Given the description of an element on the screen output the (x, y) to click on. 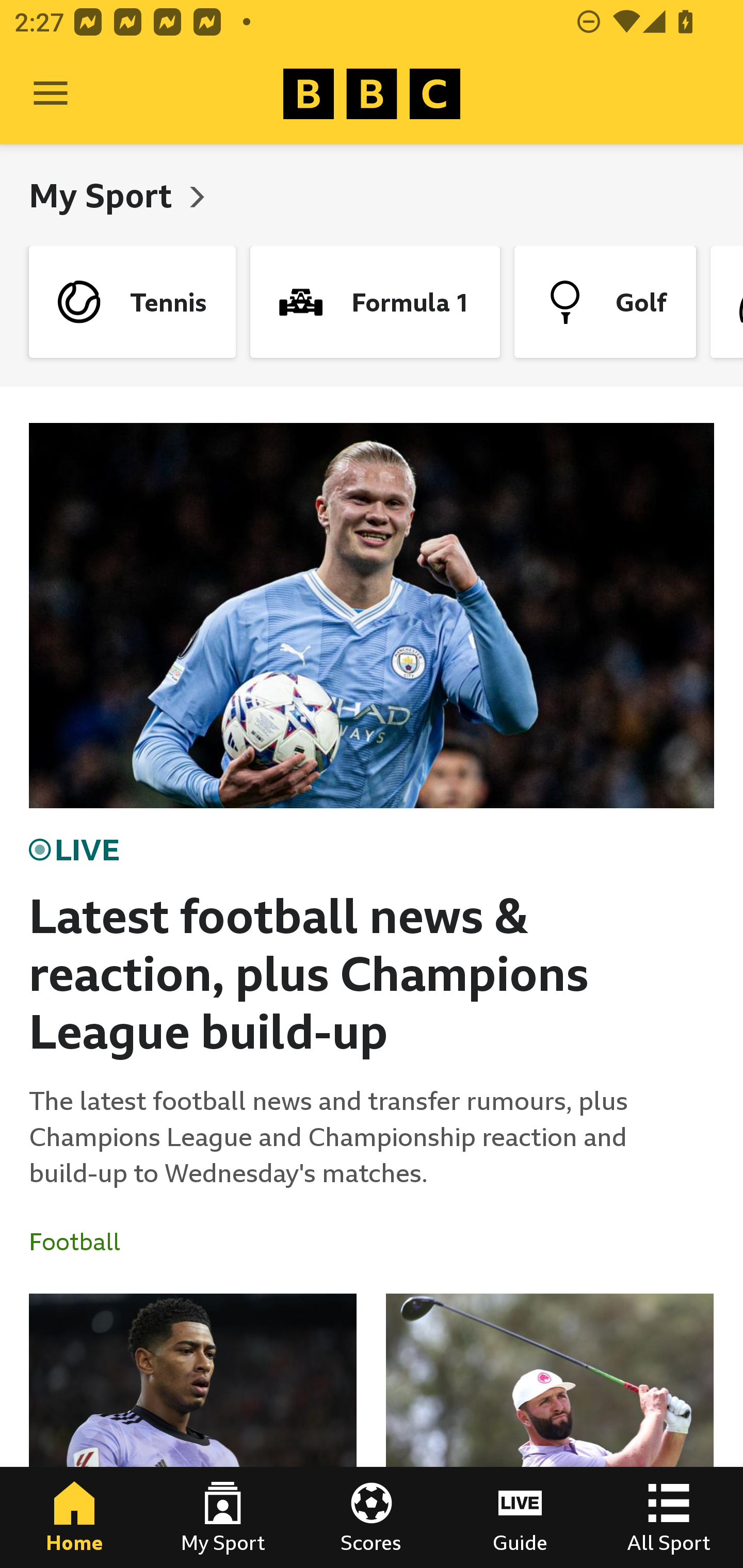
Open Menu (50, 93)
My Sport (104, 195)
Football In the section Football (81, 1241)
Real midfielder Bellingham banned for two games (192, 1430)
My Sport (222, 1517)
Scores (371, 1517)
Guide (519, 1517)
All Sport (668, 1517)
